Given the description of an element on the screen output the (x, y) to click on. 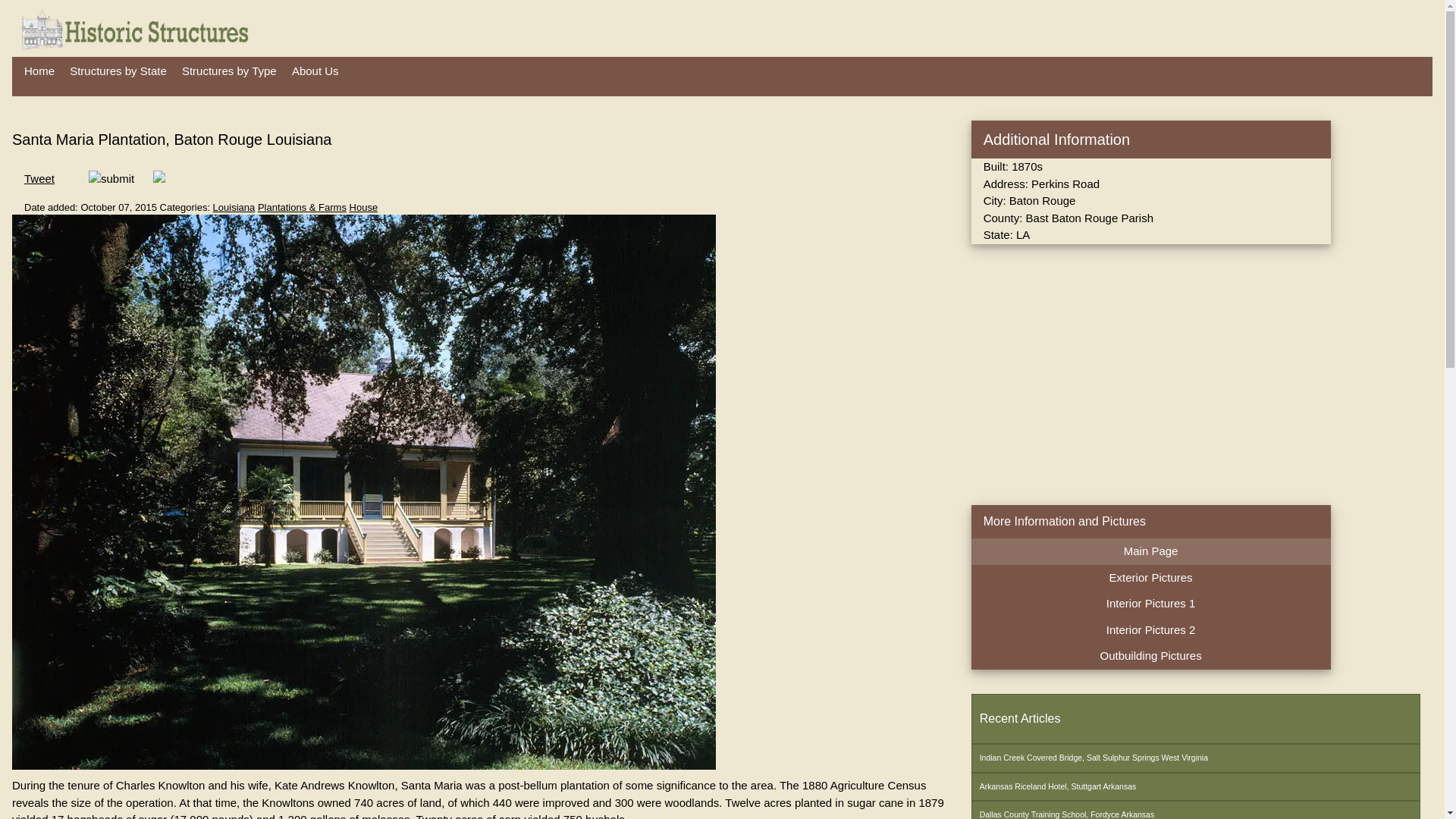
Home (39, 71)
Arkansas Riceland Hotel, Stuttgart Arkansas (1196, 787)
Advertisement (1098, 374)
Structures by State (118, 70)
Dallas County Training School, Fordyce Arkansas (1196, 809)
